Given the description of an element on the screen output the (x, y) to click on. 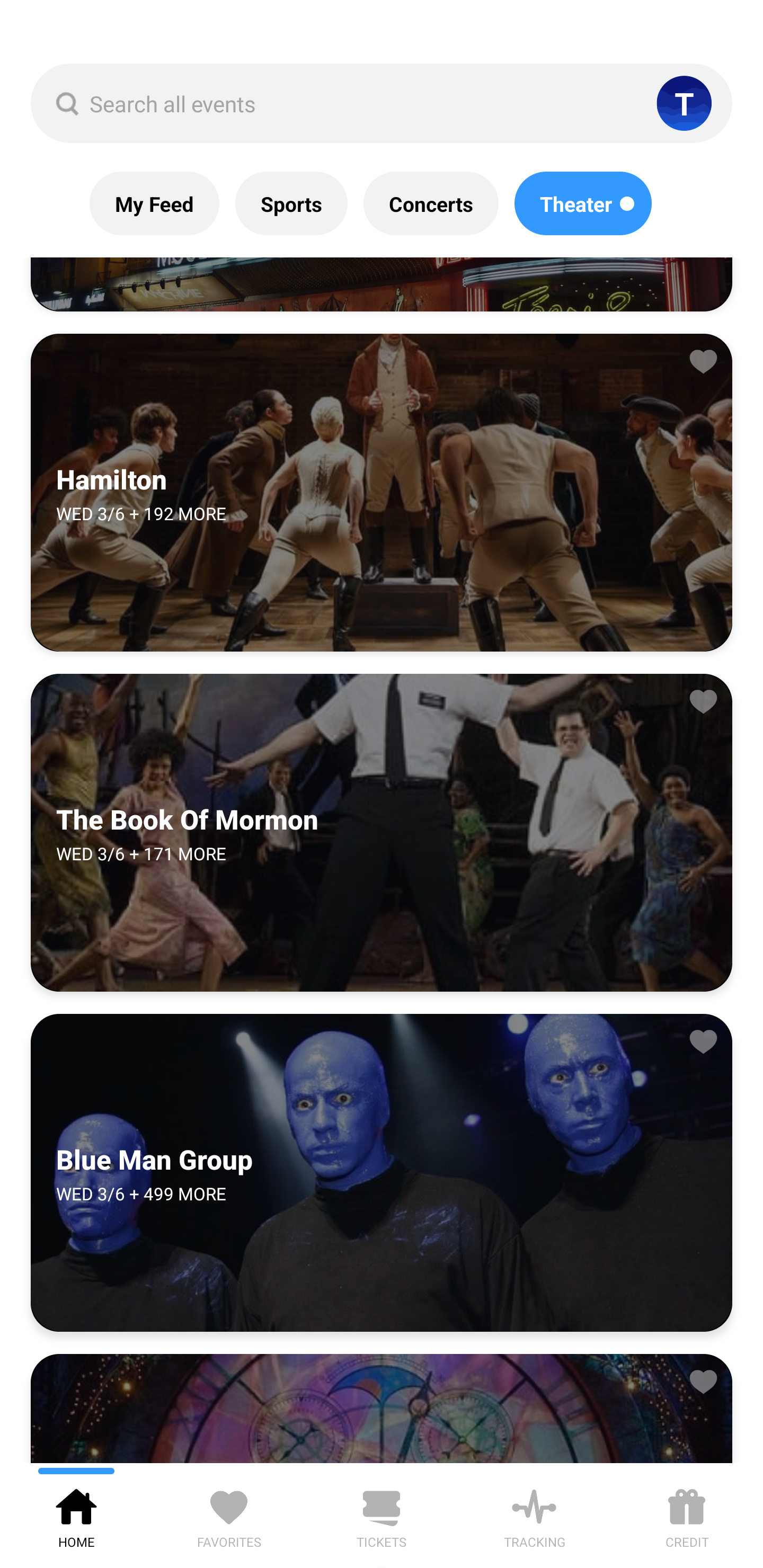
Search all events (381, 103)
T (683, 102)
My Feed (154, 202)
Sports (291, 202)
Concerts (430, 202)
Theater (582, 202)
HOME (76, 1515)
FAVORITES (228, 1515)
TICKETS (381, 1515)
TRACKING (533, 1515)
CREDIT (686, 1515)
